Given the description of an element on the screen output the (x, y) to click on. 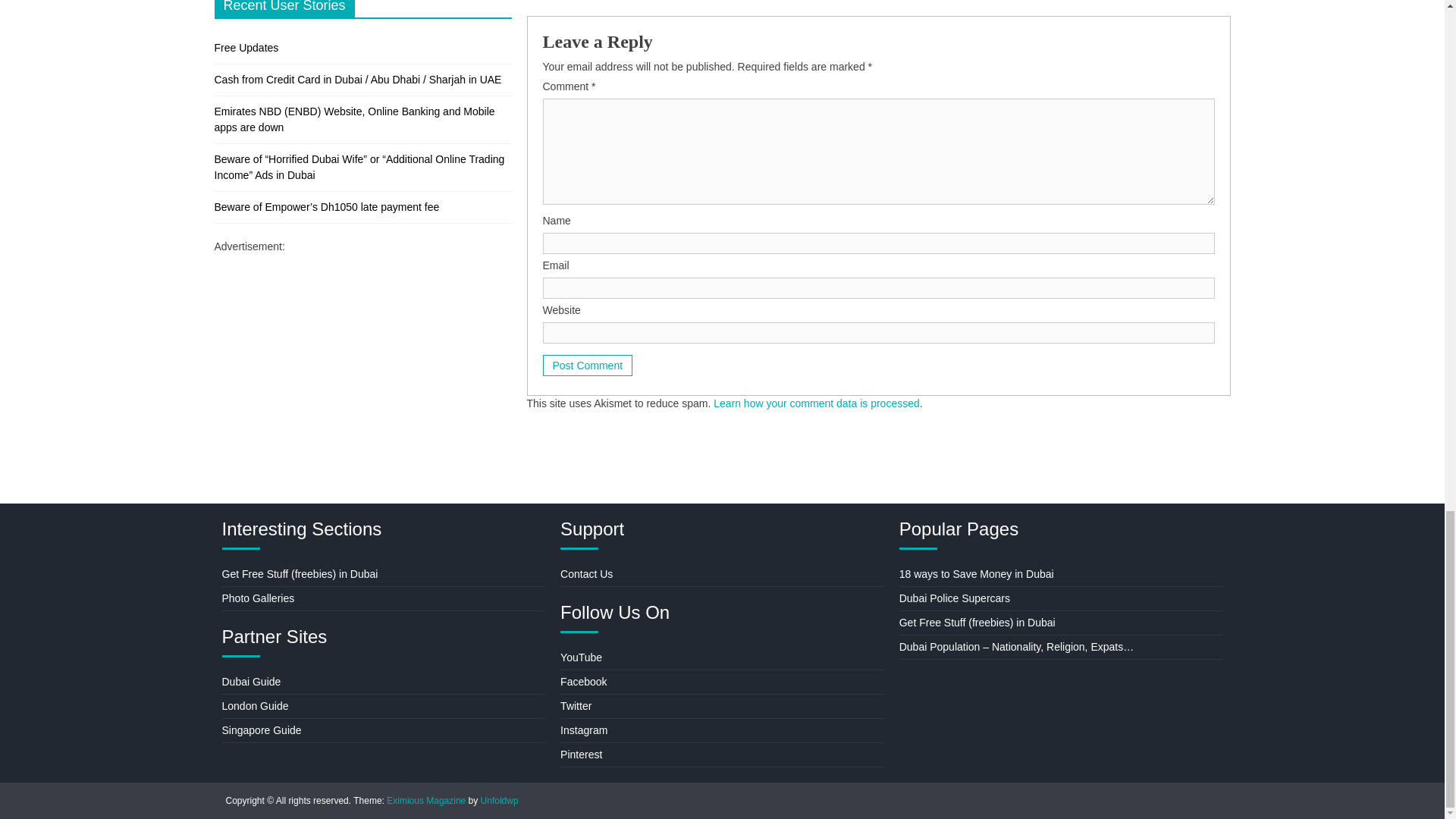
Post Comment (588, 364)
